Given the description of an element on the screen output the (x, y) to click on. 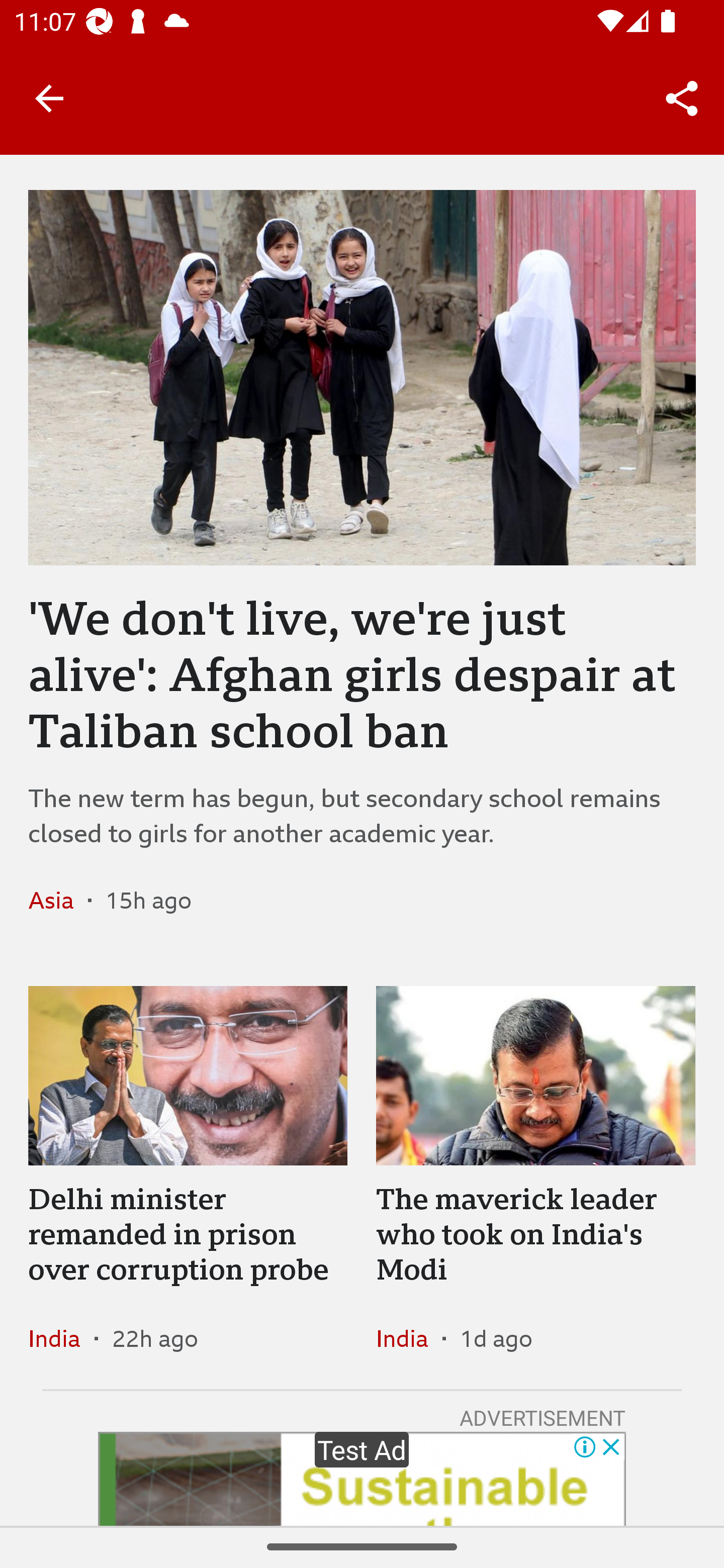
Back (49, 97)
Share (681, 98)
Asia In the section Asia (58, 899)
India In the section India (61, 1338)
India In the section India (408, 1338)
Advertisement (361, 1478)
